Given the description of an element on the screen output the (x, y) to click on. 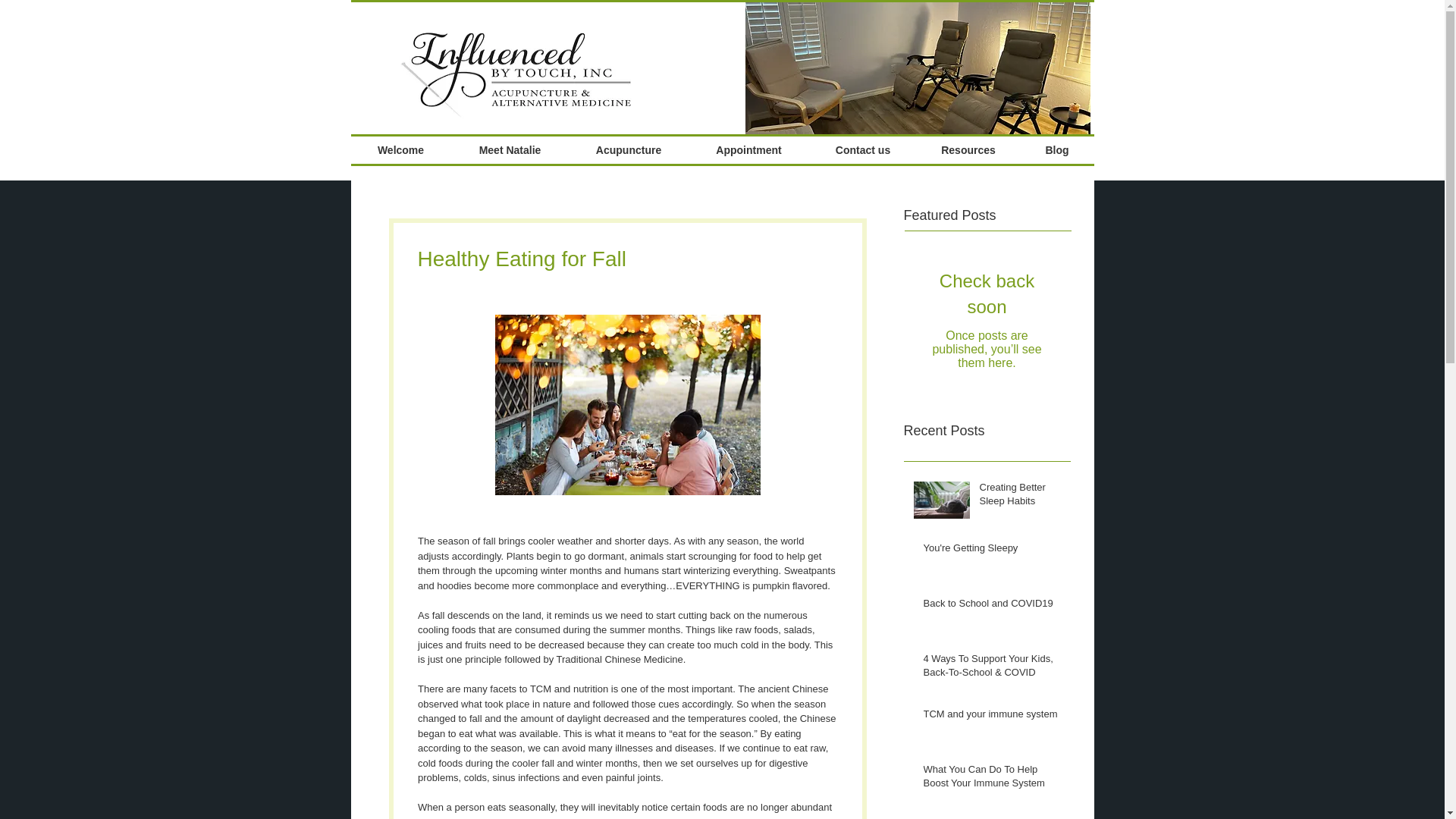
Creating Better Sleep Habits (1020, 497)
Acupuncture (628, 149)
Appointment (748, 149)
You're Getting Sleepy (992, 551)
Contact us (863, 149)
Blog (1057, 149)
What You Can Do To Help Boost Your Immune System (992, 779)
Meet Natalie (509, 149)
TCM and your immune system (992, 717)
Welcome (399, 149)
Back to School and COVID19 (992, 606)
Resources (967, 149)
